Given the description of an element on the screen output the (x, y) to click on. 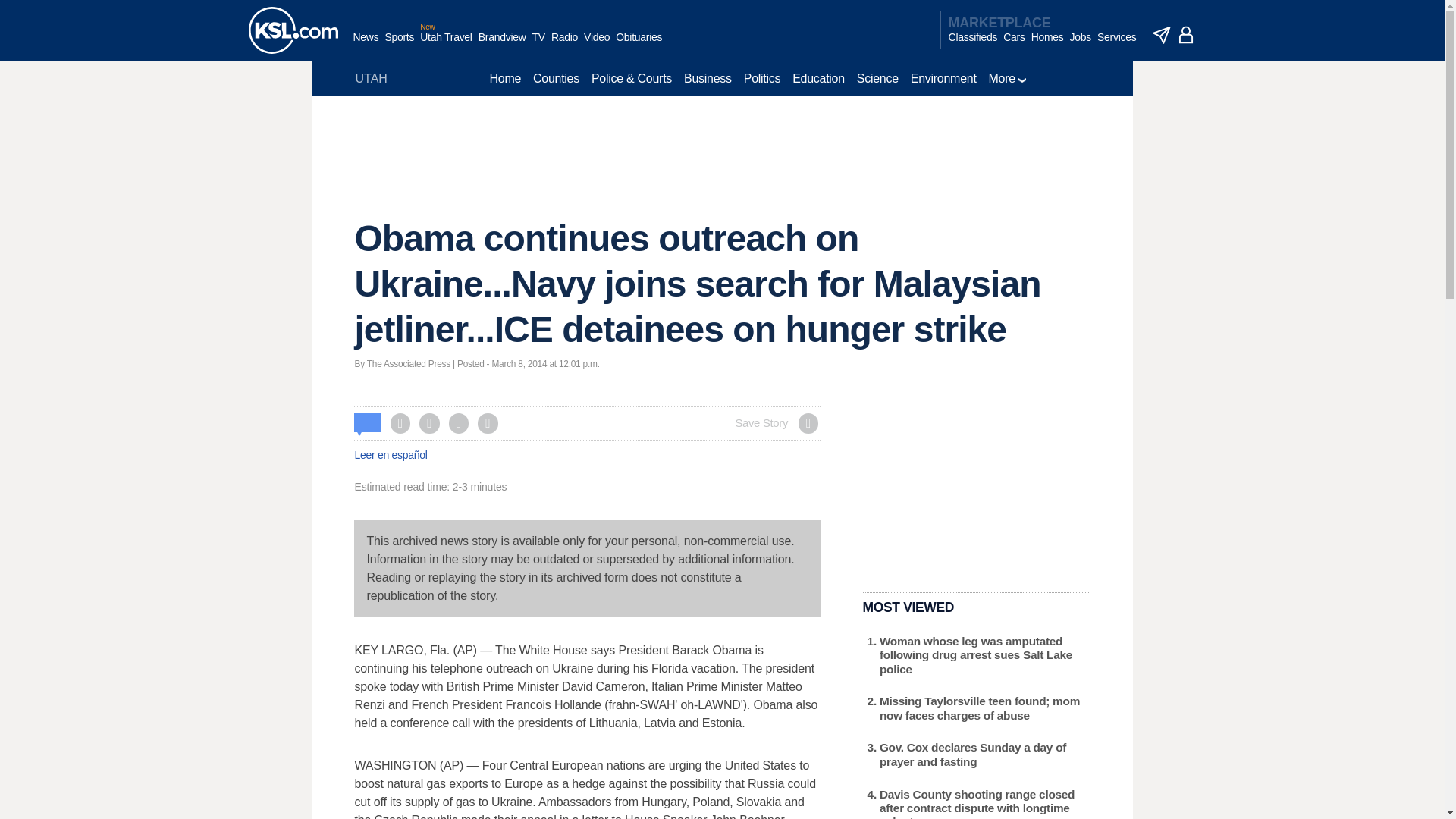
Sports (398, 45)
KSL homepage (292, 29)
Utah Travel (445, 45)
KSL homepage (292, 30)
account - logged out (1185, 34)
Brandview (502, 45)
